Given the description of an element on the screen output the (x, y) to click on. 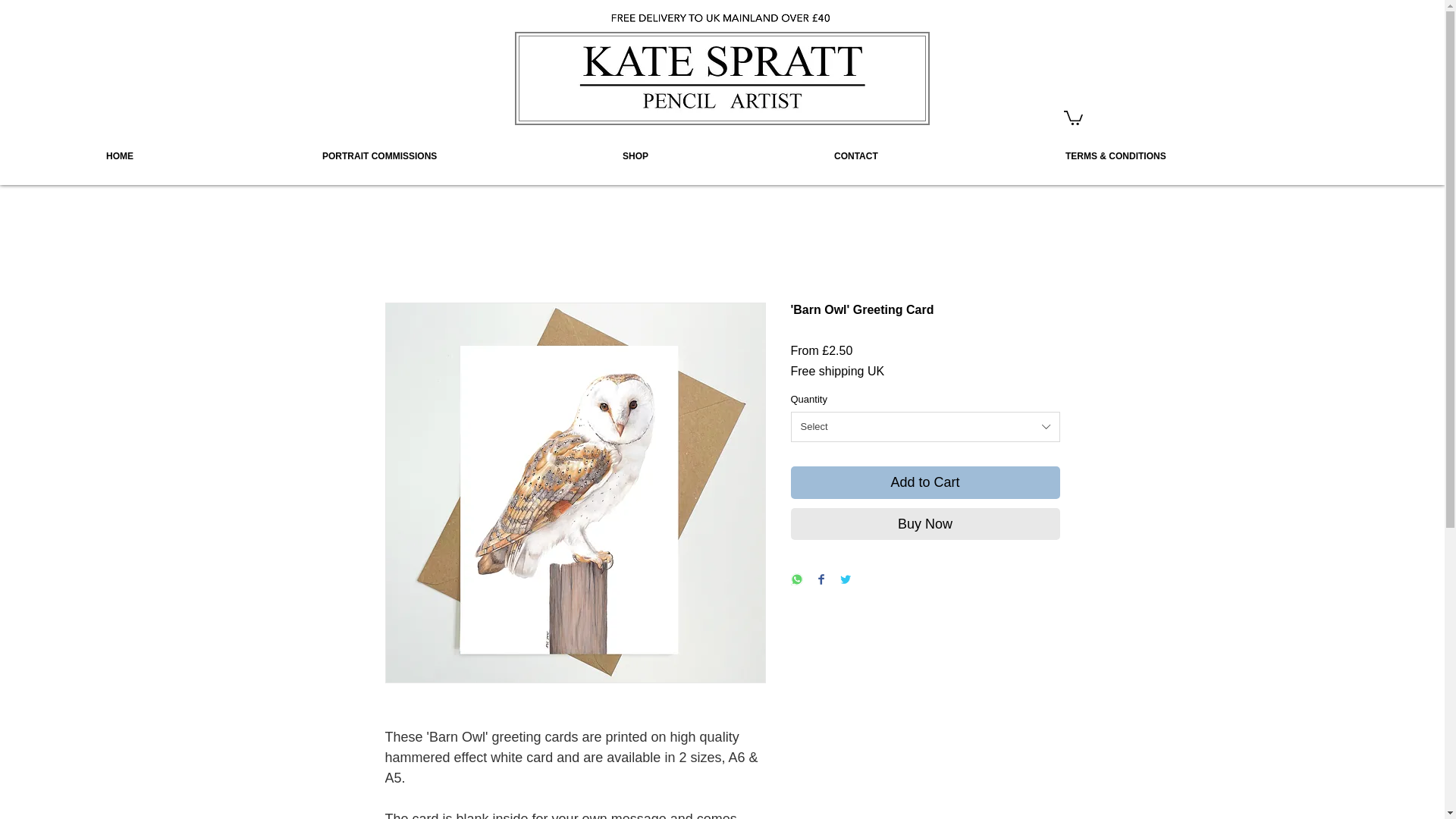
Select (924, 426)
Buy Now (924, 523)
Add to Cart (924, 482)
HOME (205, 156)
Free shipping UK (836, 371)
CONTACT (941, 156)
